Given the description of an element on the screen output the (x, y) to click on. 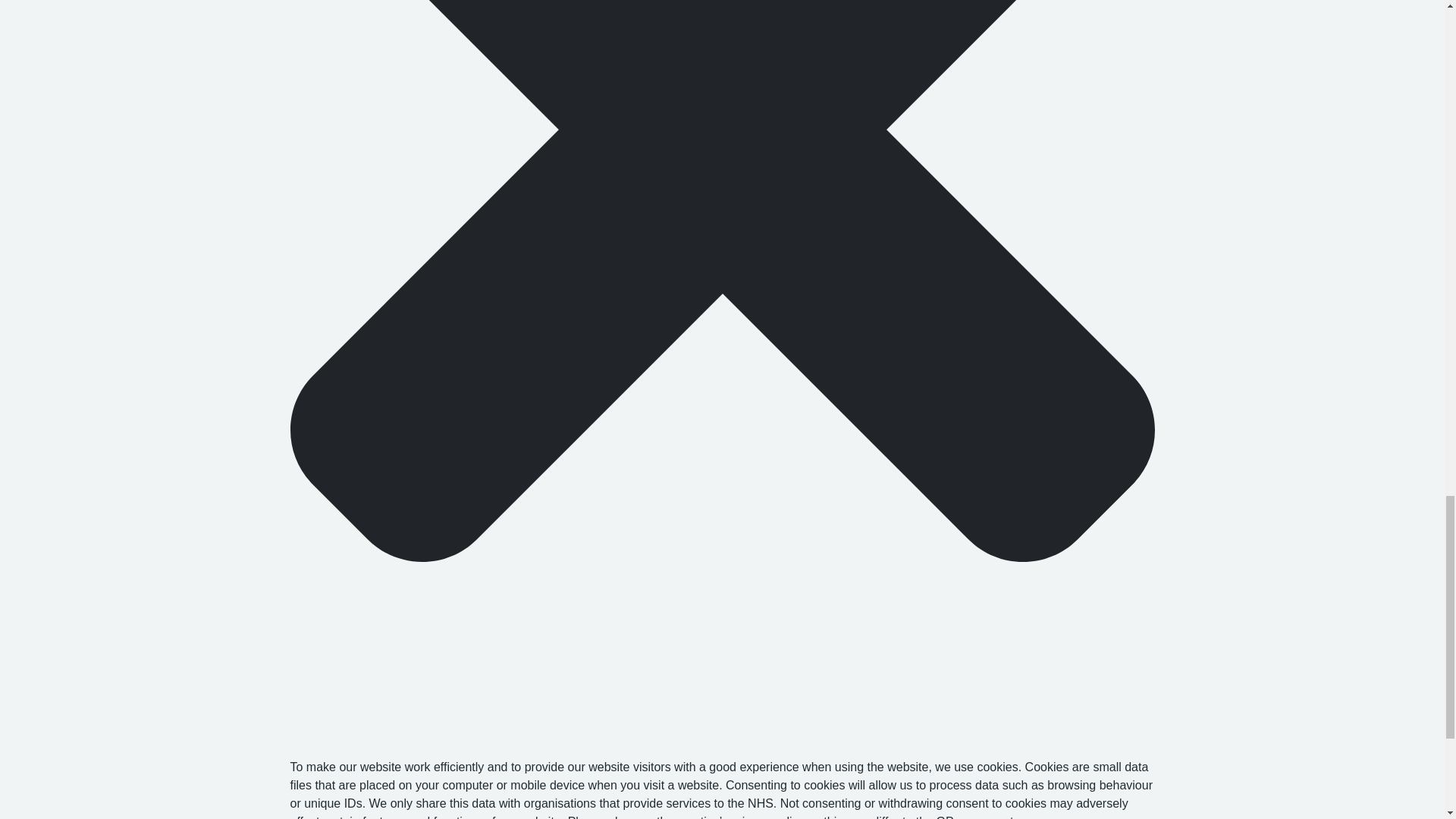
network privacy policy (1065, 818)
